Given the description of an element on the screen output the (x, y) to click on. 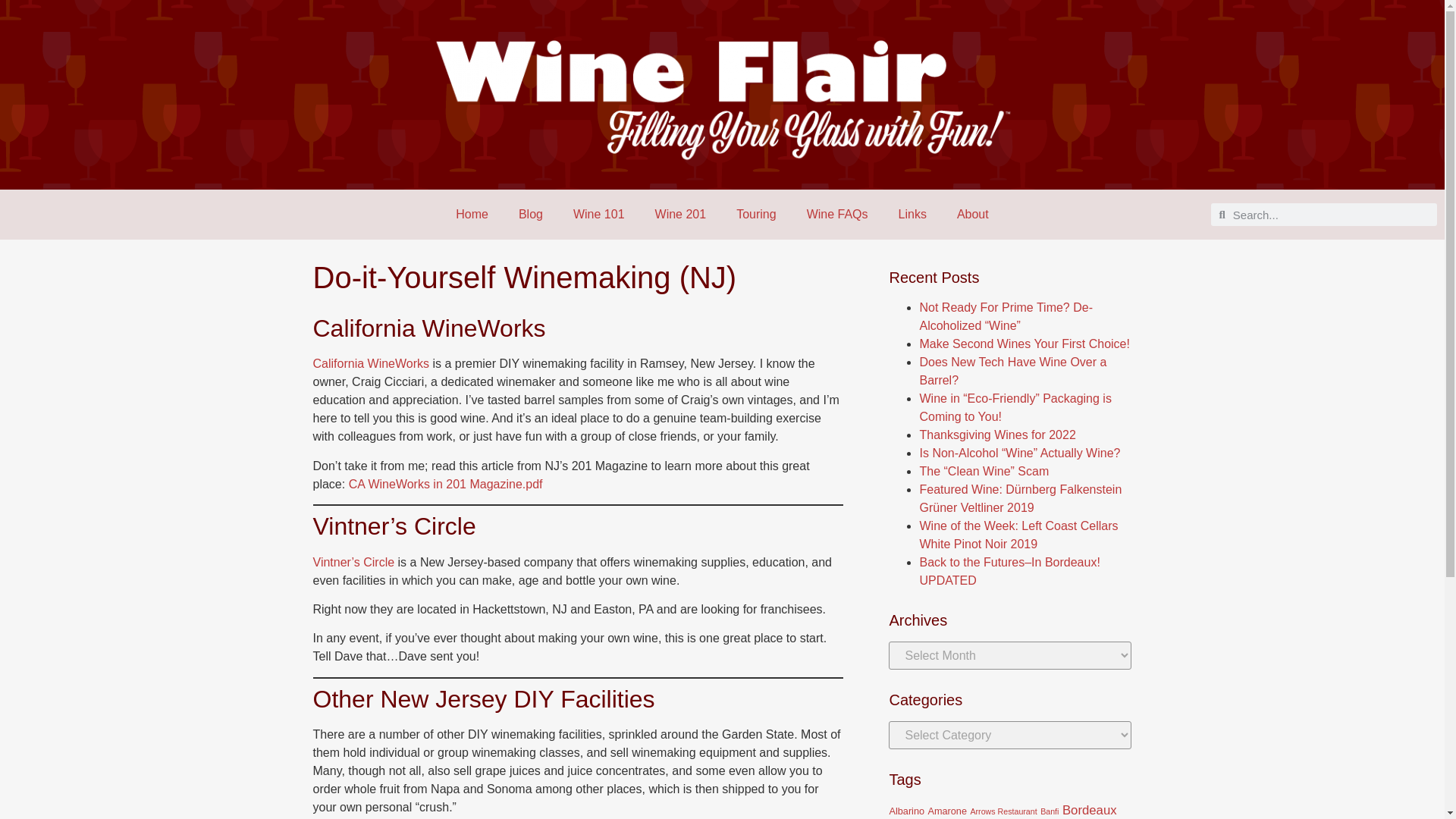
Wine 101 (598, 214)
Blog (530, 214)
Touring (755, 214)
Wine FAQs (837, 214)
Home (472, 214)
Links (912, 214)
Wine 201 (681, 214)
